Given the description of an element on the screen output the (x, y) to click on. 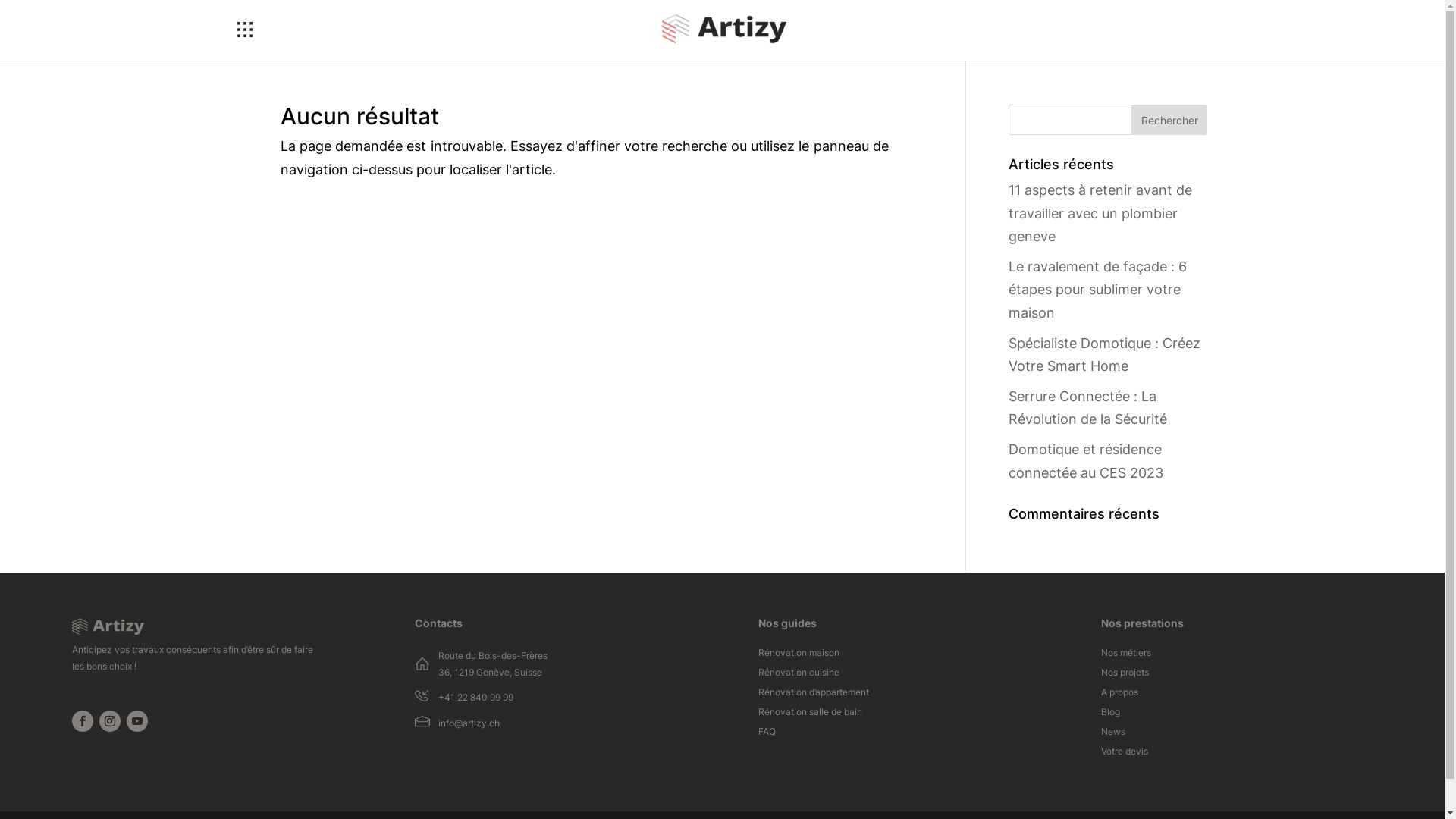
News Element type: text (1113, 734)
Nos projets Element type: text (1124, 675)
FAQ Element type: text (766, 734)
Suivez sur Youtube Element type: hover (136, 720)
+41 22 840 99 99 Element type: text (475, 696)
Votre devis Element type: text (1124, 754)
Rechercher Element type: text (1169, 119)
Suivez sur Facebook Element type: hover (82, 720)
A propos Element type: text (1119, 695)
Suivez sur Instagram Element type: hover (109, 720)
info@artizy.ch Element type: text (468, 722)
Blog Element type: text (1110, 714)
